Given the description of an element on the screen output the (x, y) to click on. 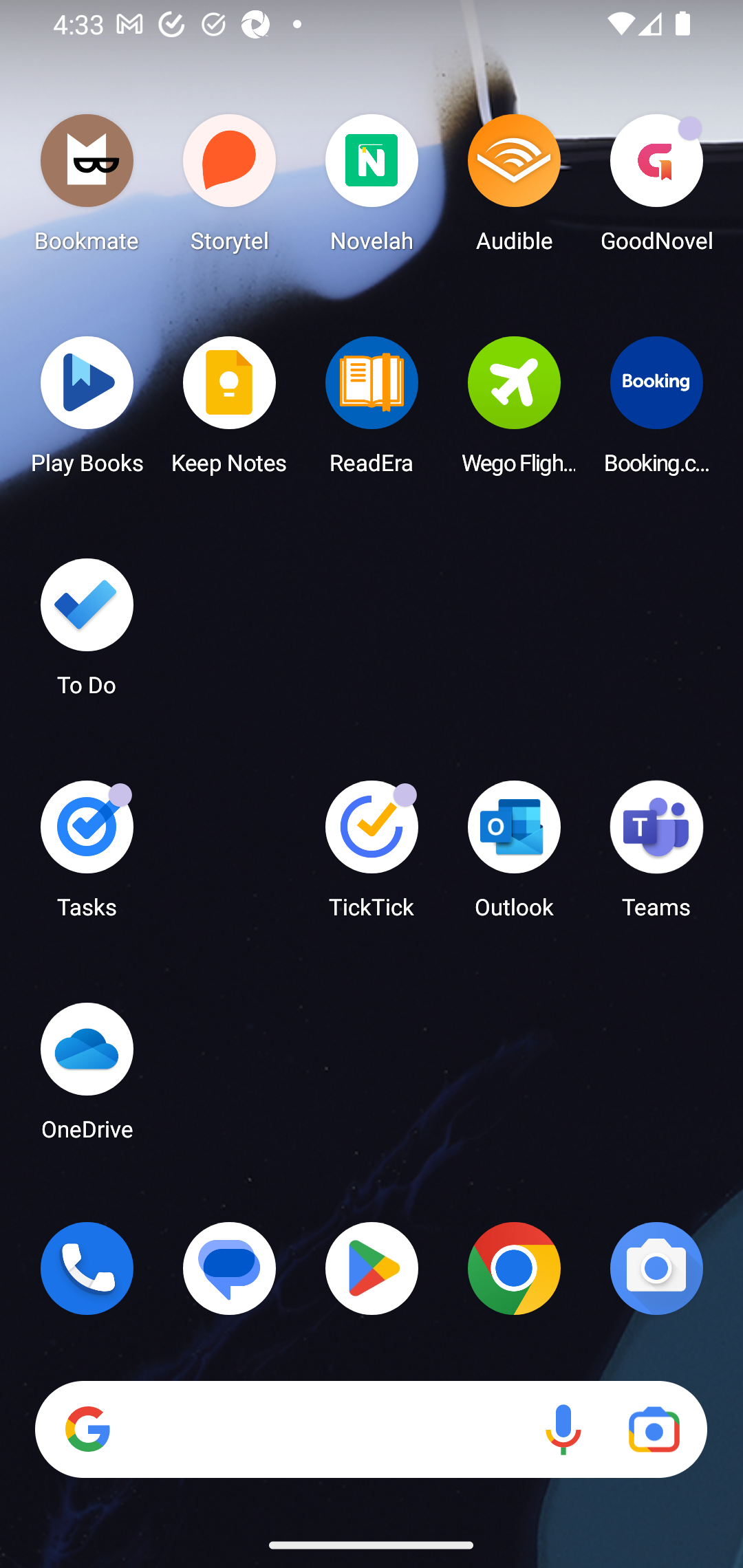
Bookmate (86, 188)
Storytel (229, 188)
Novelah (371, 188)
Audible (513, 188)
GoodNovel GoodNovel has 1 notification (656, 188)
Play Books (86, 410)
Keep Notes (229, 410)
ReadEra (371, 410)
Wego Flights & Hotels (513, 410)
Booking.com (656, 410)
To Do (86, 633)
Tasks Tasks has 1 notification (86, 854)
TickTick TickTick has 3 notifications (371, 854)
Outlook (513, 854)
Teams (656, 854)
OneDrive (86, 1076)
Phone (86, 1268)
Messages (229, 1268)
Play Store (371, 1268)
Chrome (513, 1268)
Camera (656, 1268)
Search Voice search Google Lens (370, 1429)
Voice search (562, 1429)
Google Lens (653, 1429)
